Given the description of an element on the screen output the (x, y) to click on. 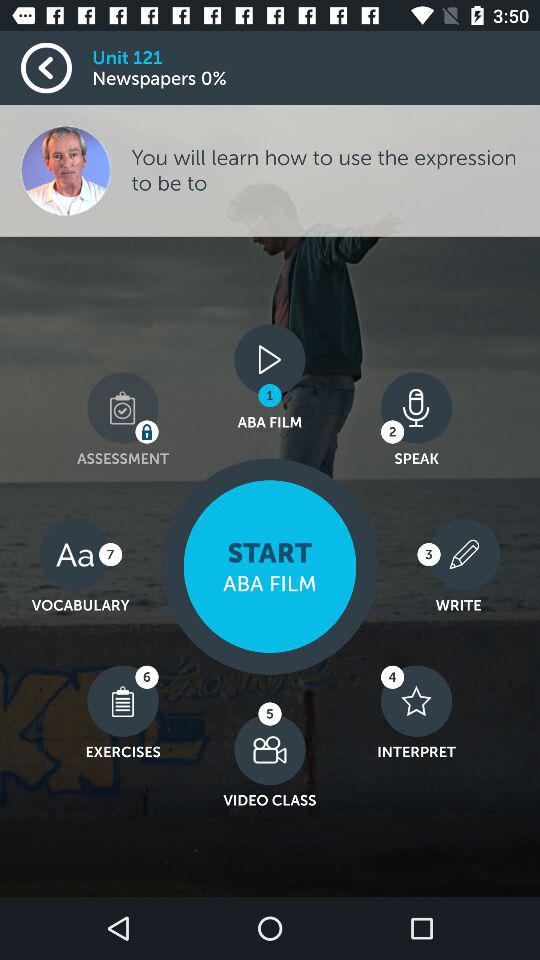
click the item next to the 3 (269, 566)
